Given the description of an element on the screen output the (x, y) to click on. 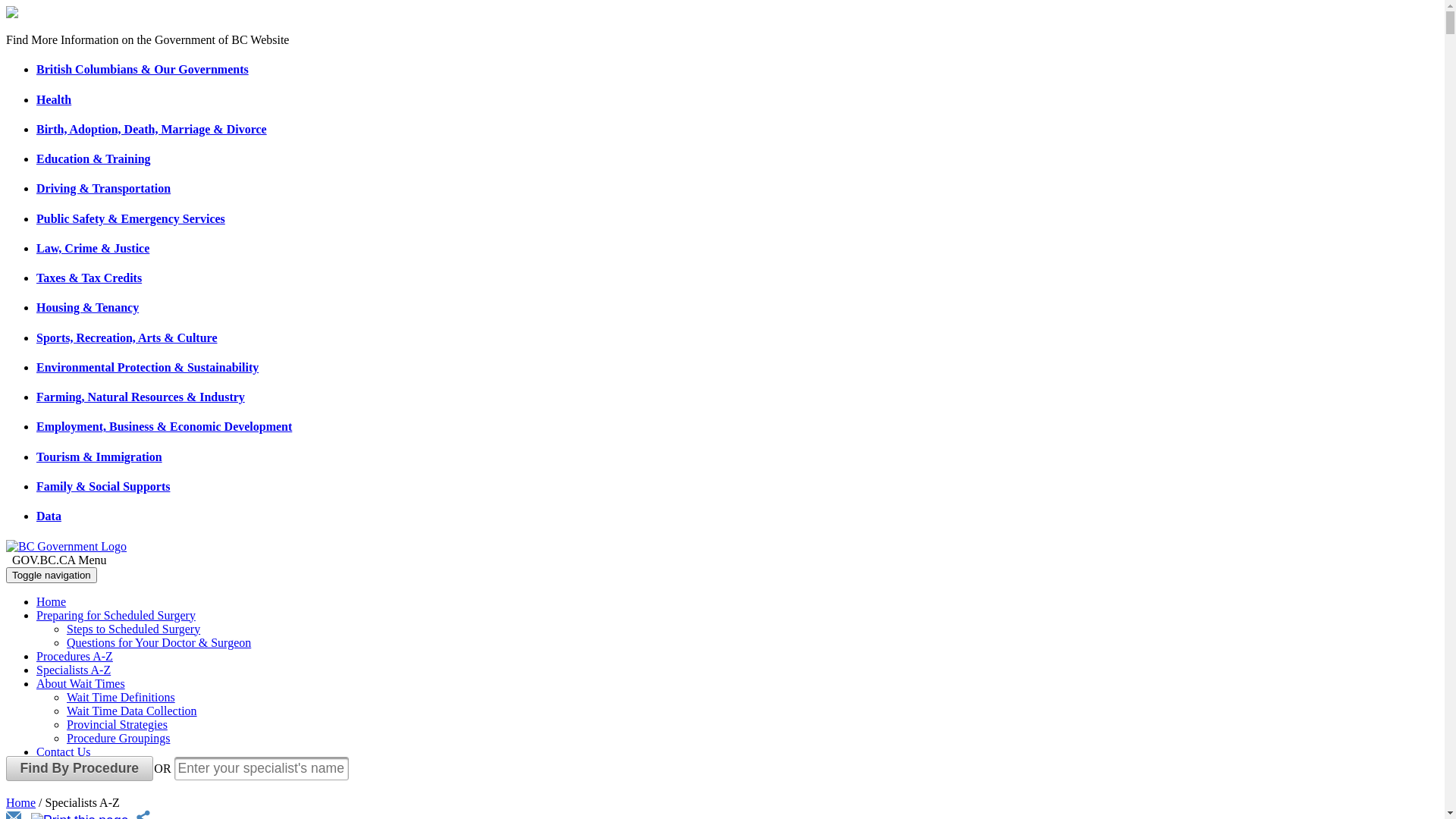
Preparing for Scheduled Surgery Element type: text (115, 614)
Employment, Business & Economic Development Element type: text (163, 426)
  GOV.BC.CA Menu Element type: text (722, 560)
About Wait Times Element type: text (80, 683)
Specialists A-Z Element type: text (73, 669)
Driving & Transportation Element type: text (103, 188)
Farming, Natural Resources & Industry Element type: text (140, 396)
Birth, Adoption, Death, Marriage & Divorce Element type: text (151, 128)
Procedure Groupings Element type: text (117, 737)
Sports, Recreation, Arts & Culture Element type: text (126, 337)
Procedures A-Z Element type: text (74, 655)
Find By Procedure Element type: text (79, 768)
Law, Crime & Justice Element type: text (92, 247)
Public Safety & Emergency Services Element type: text (130, 218)
Provincial Strategies Element type: text (116, 724)
Data Element type: text (48, 515)
Environmental Protection & Sustainability Element type: text (147, 366)
Family & Social Supports Element type: text (102, 486)
Questions for Your Doctor & Surgeon Element type: text (158, 642)
Wait Time Definitions Element type: text (120, 696)
Contact Us Element type: text (63, 751)
Wait Time Data Collection Element type: text (131, 710)
Taxes & Tax Credits Element type: text (88, 277)
Housing & Tenancy Element type: text (87, 307)
Tourism & Immigration Element type: text (99, 456)
Education & Training Element type: text (93, 158)
Toggle navigation Element type: text (51, 575)
Home Element type: text (20, 802)
Home Element type: text (50, 601)
British Columbians & Our Governments Element type: text (142, 68)
Health Element type: text (53, 99)
Steps to Scheduled Surgery Element type: text (133, 628)
